Given the description of an element on the screen output the (x, y) to click on. 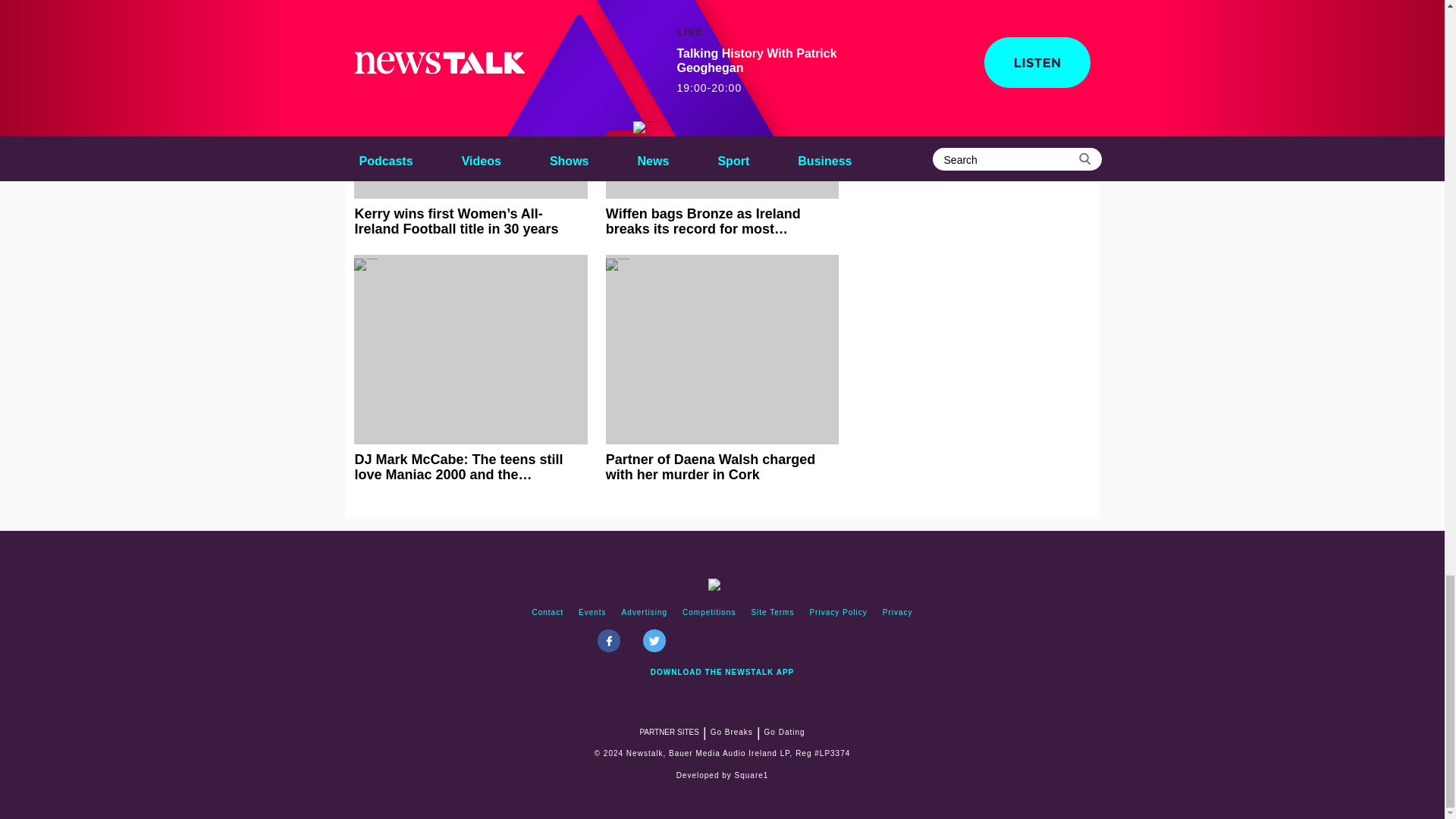
site terms (772, 612)
Privacy Policy (838, 612)
advertising (644, 612)
competitions (708, 612)
events (592, 612)
contact (547, 612)
Privacy (897, 612)
